Given the description of an element on the screen output the (x, y) to click on. 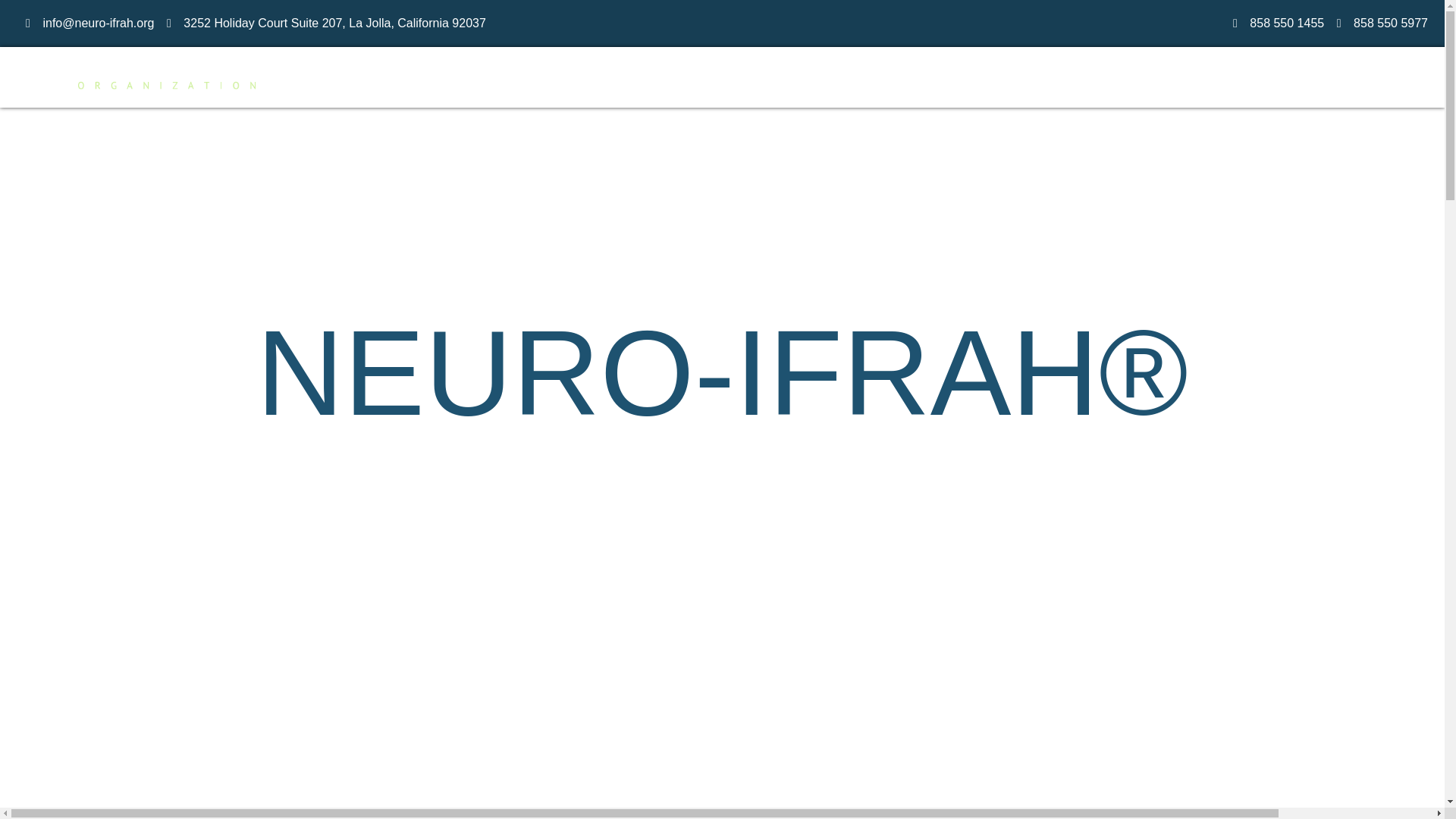
Therapy Equipment (1169, 76)
About Us (1326, 76)
Courses (869, 76)
3252 Holiday Court Suite 207, La Jolla, California 92037 (333, 22)
858 550 1455 (1286, 22)
Clinics (586, 76)
Treatment (654, 76)
Orthotics (1069, 76)
Videos Of Treatment (764, 76)
